Given the description of an element on the screen output the (x, y) to click on. 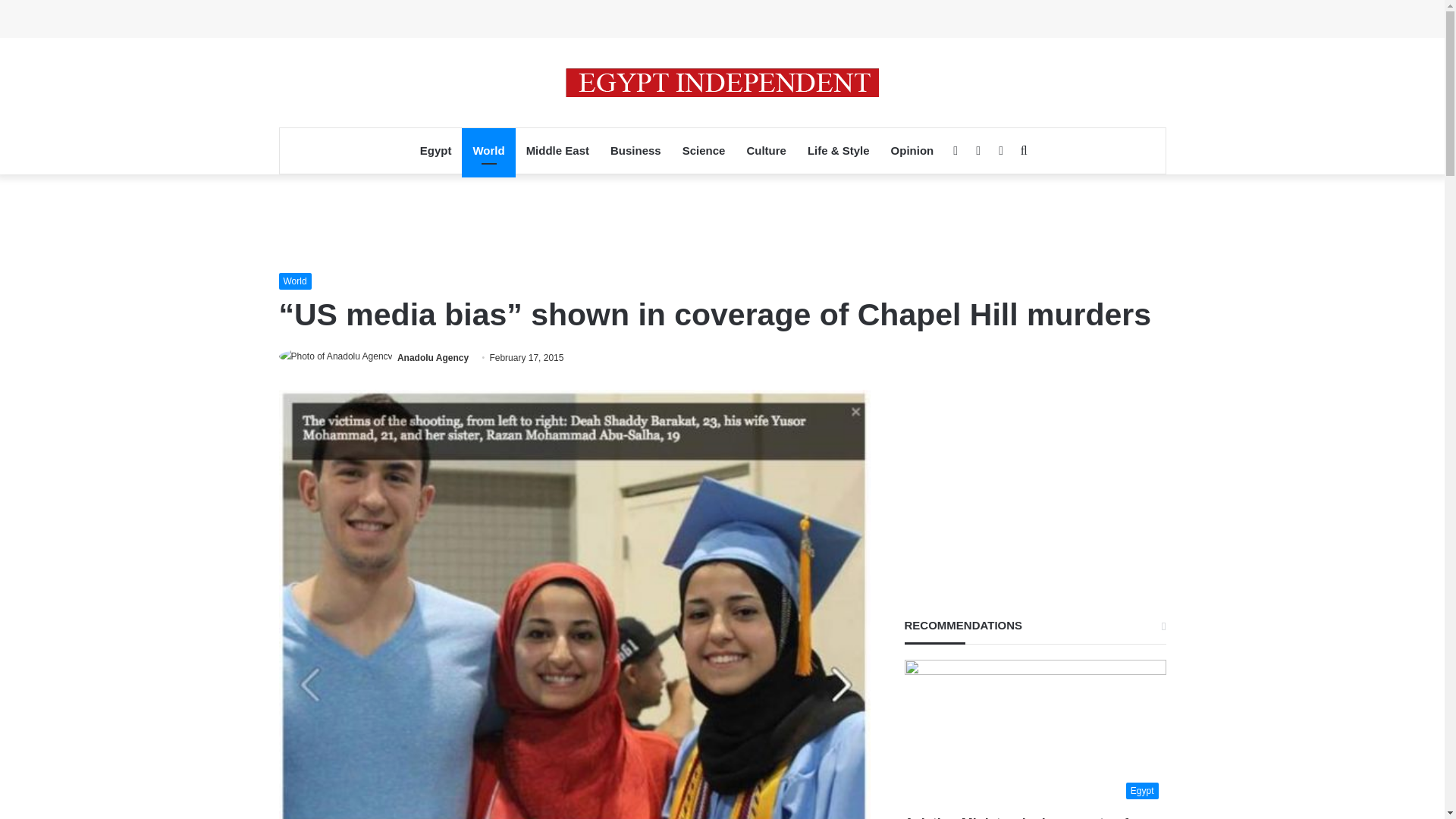
Twitter (978, 150)
Search for (1023, 150)
Culture (765, 150)
Egypt Independent (722, 82)
World (295, 280)
World (488, 150)
Business (635, 150)
Anadolu Agency (432, 357)
Opinion (912, 150)
Facebook (954, 150)
RSS (1000, 150)
Anadolu Agency (432, 357)
Middle East (557, 150)
Science (703, 150)
Egypt (436, 150)
